Given the description of an element on the screen output the (x, y) to click on. 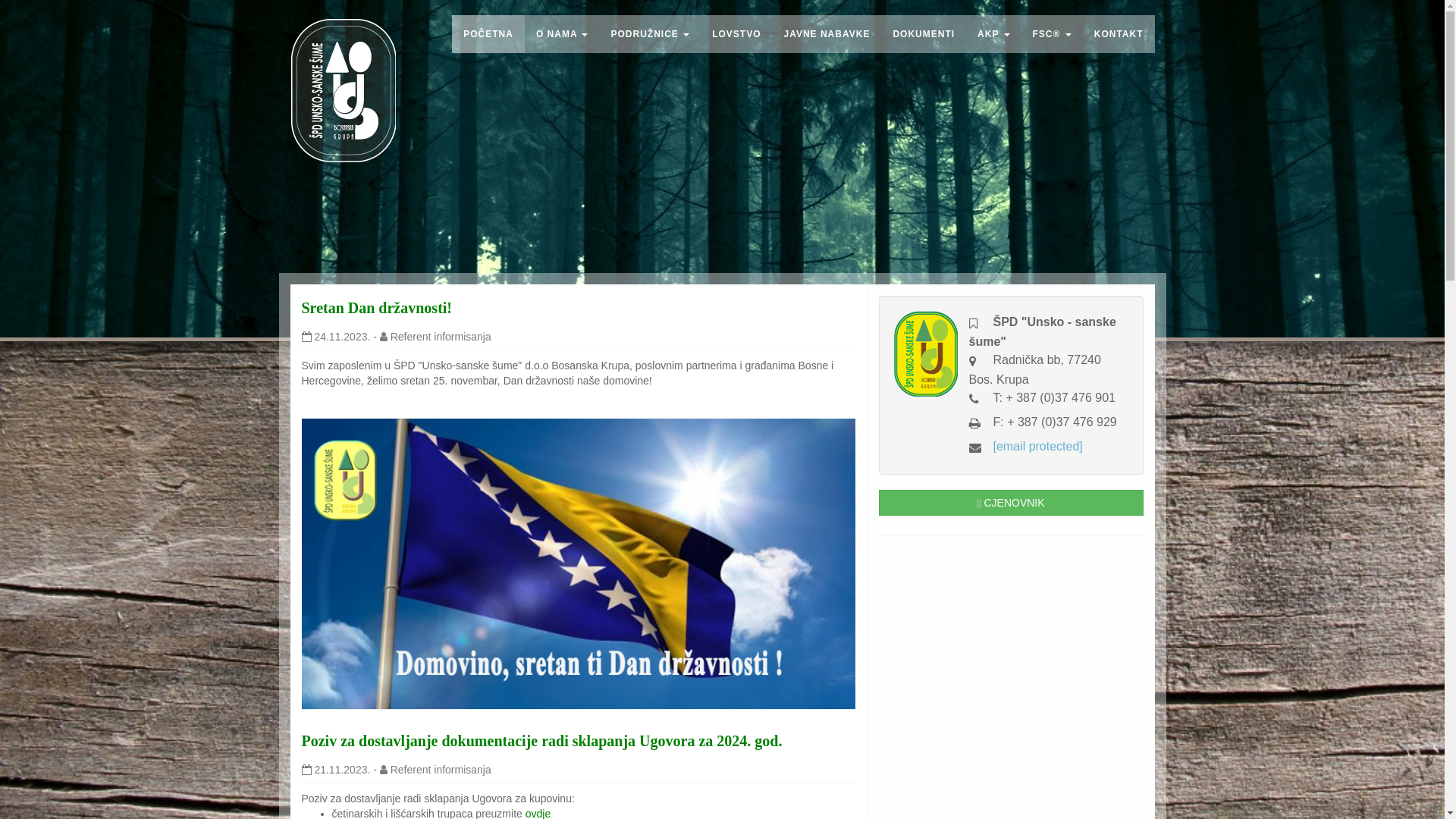
AKP Element type: text (993, 34)
O NAMA Element type: text (561, 34)
JAVNE NABAVKE Element type: text (826, 34)
LOVSTVO Element type: text (735, 34)
DOKUMENTI Element type: text (923, 34)
CJENOVNIK Element type: text (1010, 502)
KONTAKT Element type: text (1118, 34)
[email protected] Element type: text (1037, 445)
